Given the description of an element on the screen output the (x, y) to click on. 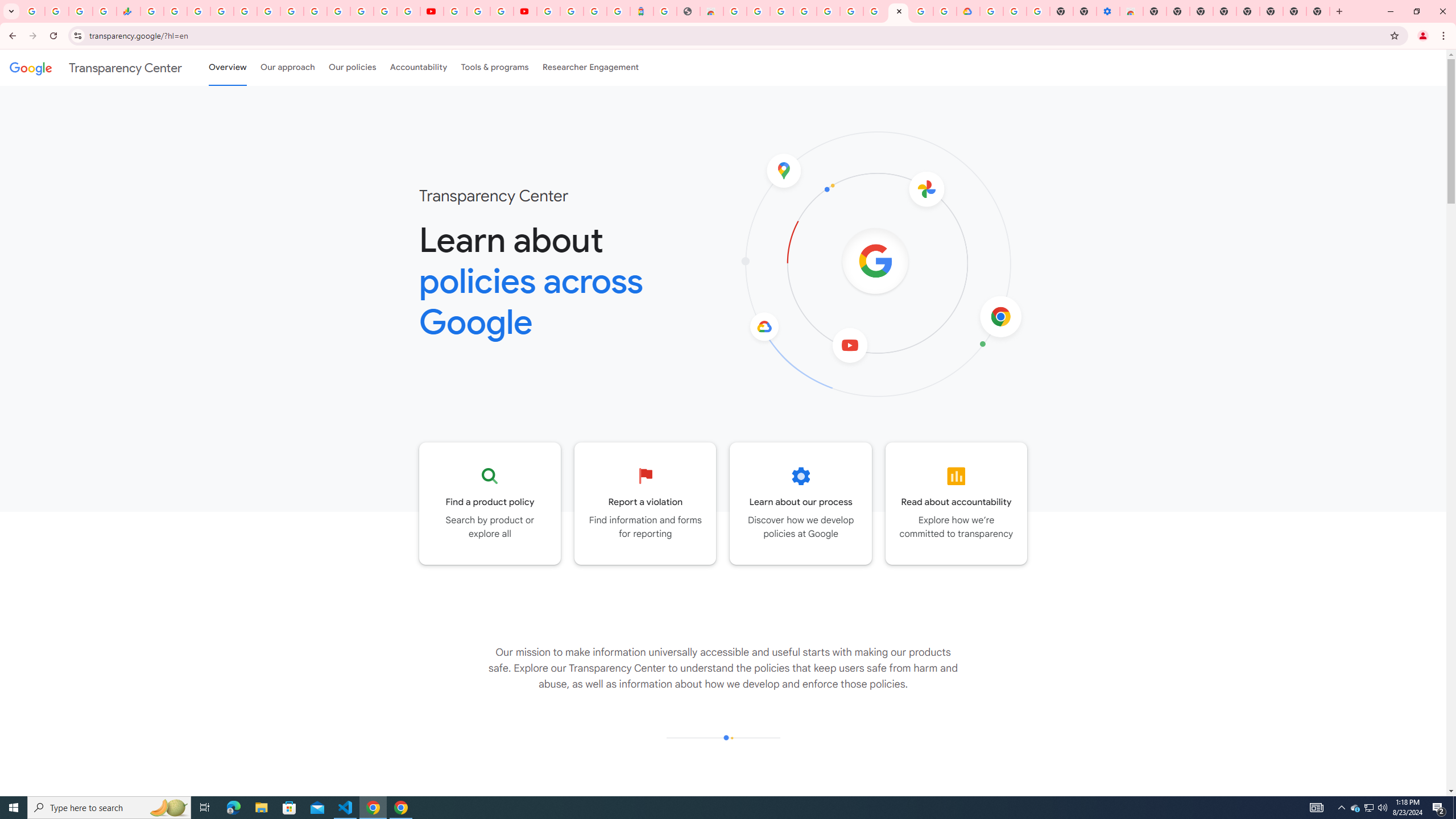
Ad Settings (804, 11)
Create your Google Account (921, 11)
Sign in - Google Accounts (992, 11)
YouTube (431, 11)
Turn cookies on or off - Computer - Google Account Help (1038, 11)
Go to the Reporting and appeals page (645, 503)
New Tab (1155, 11)
